Given the description of an element on the screen output the (x, y) to click on. 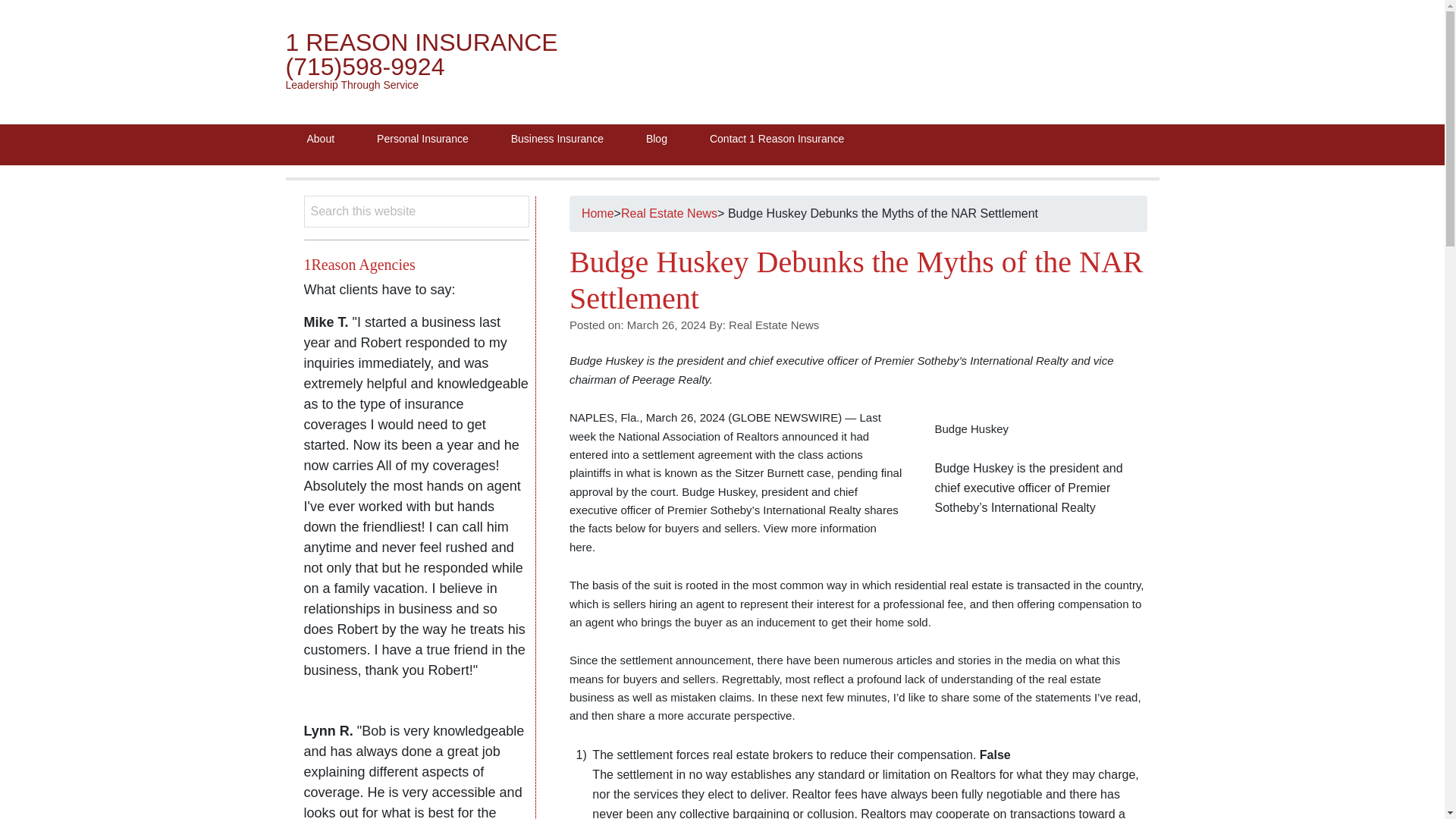
Personal Insurance (422, 138)
Real Estate News (669, 213)
About (320, 138)
Business Insurance (556, 138)
Contact 1 Reason Insurance (776, 138)
Home (597, 213)
Blog (656, 138)
